Given the description of an element on the screen output the (x, y) to click on. 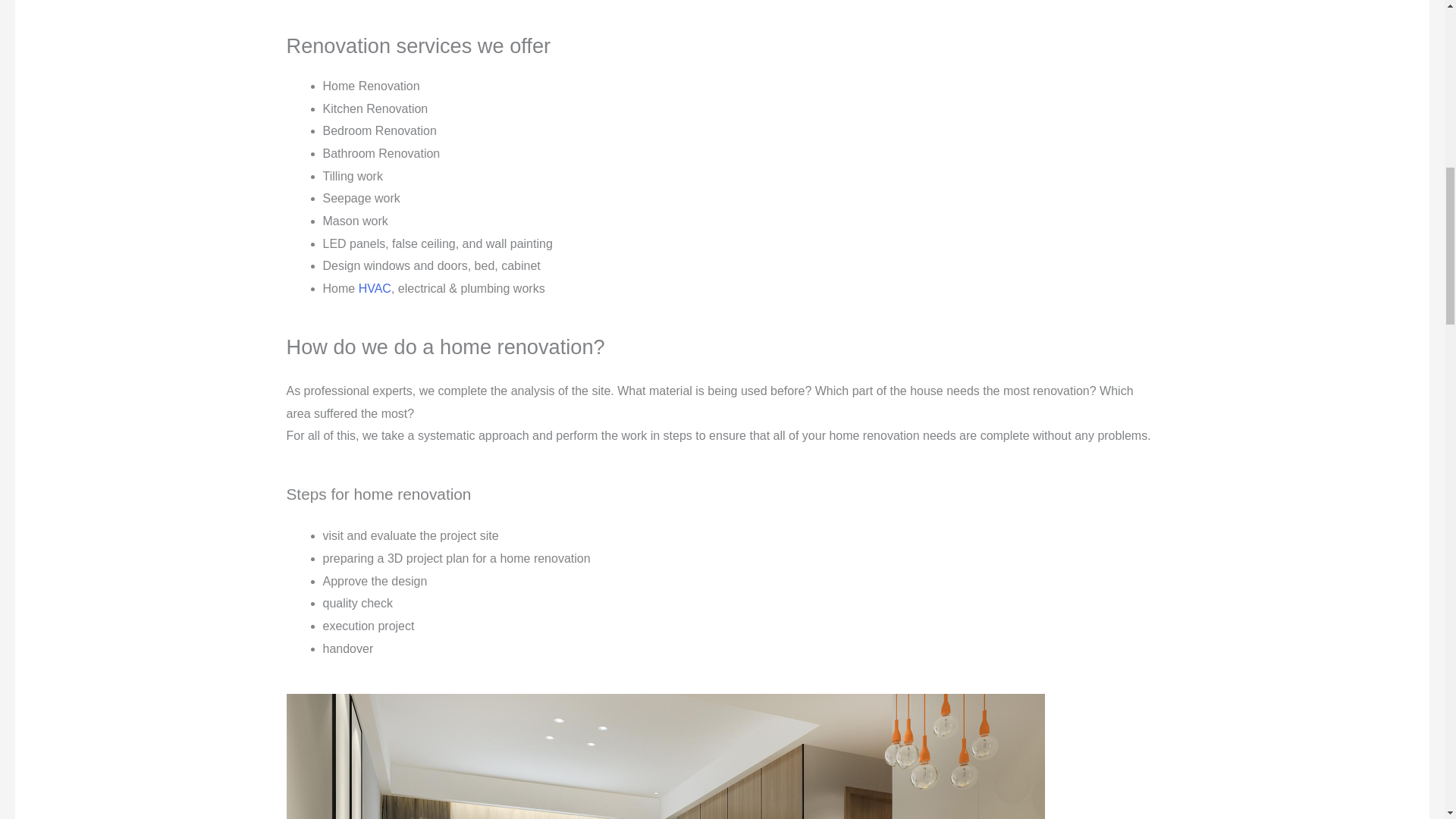
HVAC (374, 287)
